Given the description of an element on the screen output the (x, y) to click on. 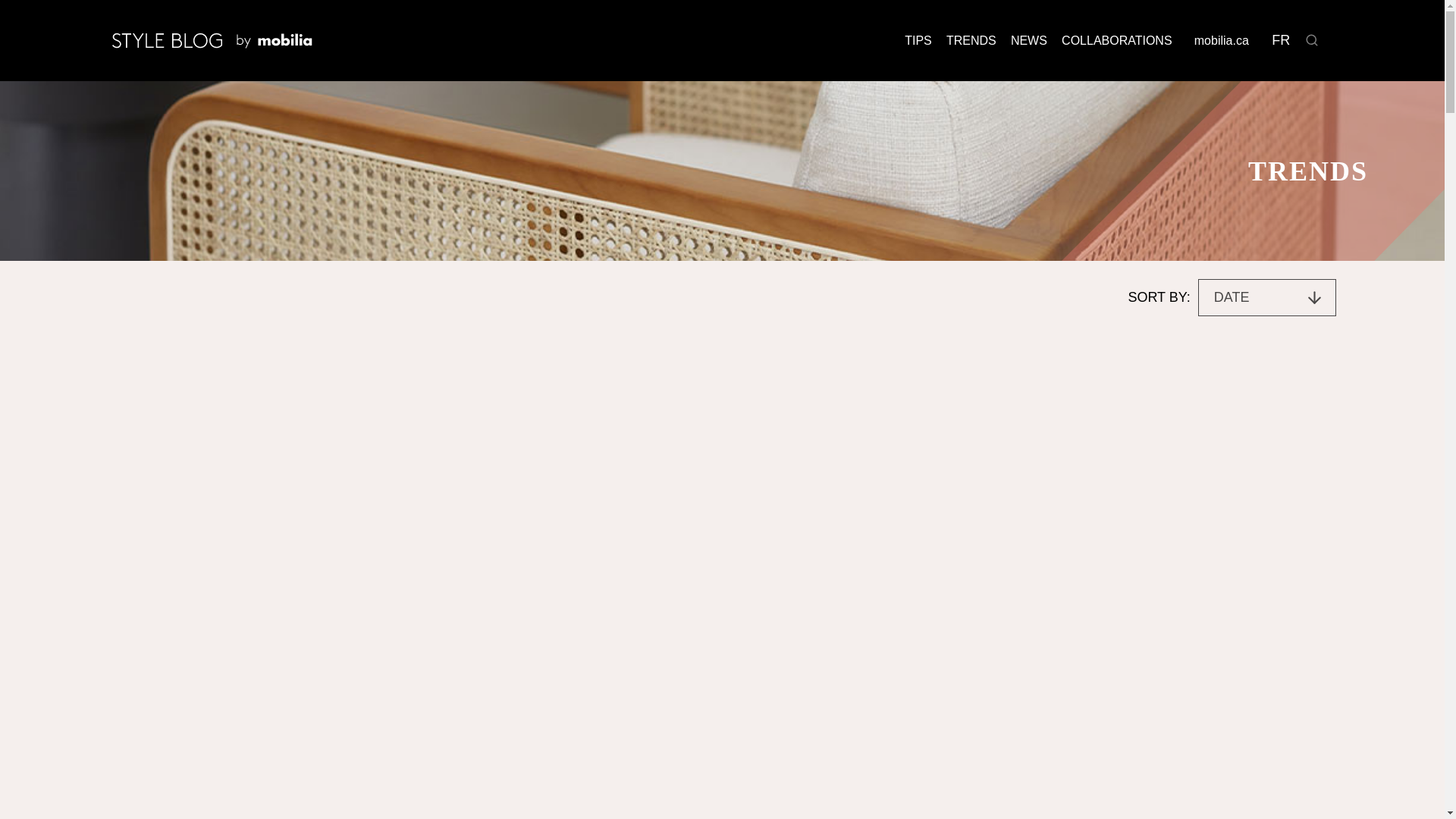
FR (1280, 40)
NEWS (1028, 40)
COLLABORATIONS (1116, 40)
TIPS (918, 40)
mobilia.ca (1220, 40)
TRENDS (971, 40)
FR (1280, 40)
